Given the description of an element on the screen output the (x, y) to click on. 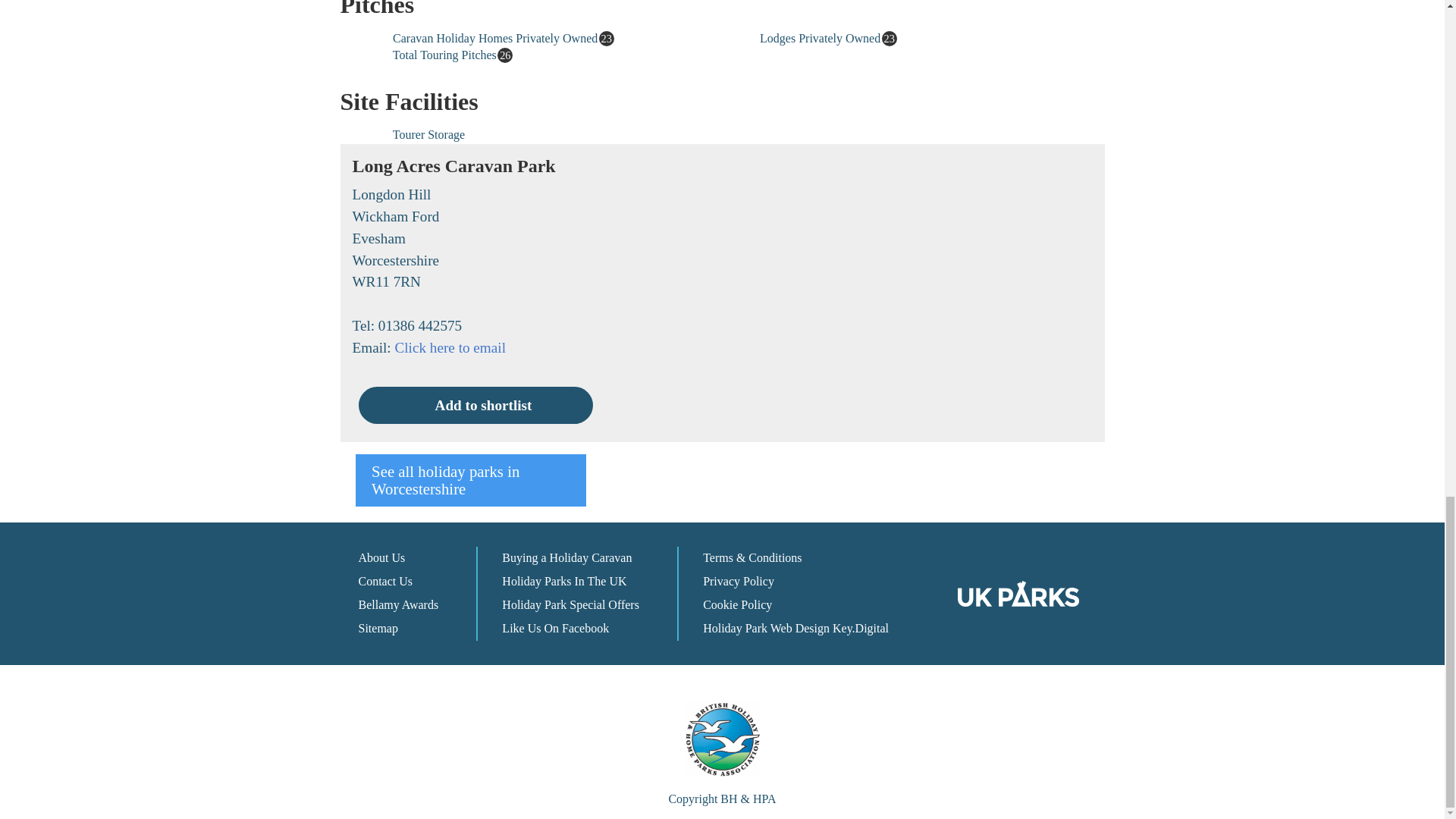
Holiday Park Web Design (766, 627)
Holiday Park Special Offers (570, 604)
Like Us On Facebook (555, 627)
Add to shortlist (475, 405)
Contact Us (385, 581)
Holiday Parks In The UK (564, 581)
Bellamy Awards (398, 604)
Privacy Policy (738, 581)
About Us (381, 557)
See all holiday parks in Worcestershire (470, 480)
